Given the description of an element on the screen output the (x, y) to click on. 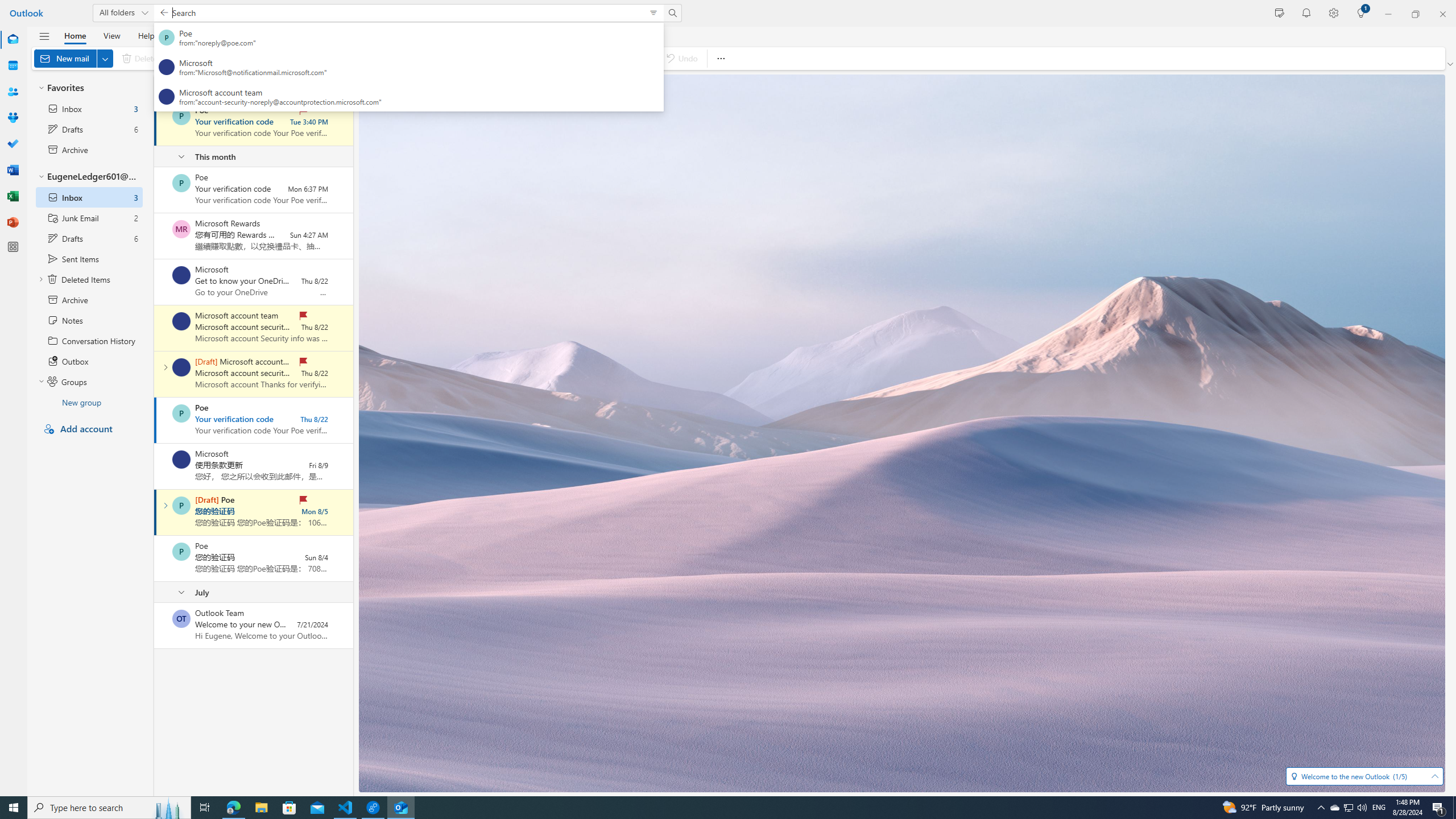
Groups (12, 117)
Expand conversation (164, 505)
To Do (12, 143)
Expand to see more report options (271, 58)
Search filters, All folders, 0 other filters applied (653, 12)
Expand to see flag options (561, 58)
Archive (194, 58)
Other (248, 86)
Search Scope Selector. (123, 13)
